Given the description of an element on the screen output the (x, y) to click on. 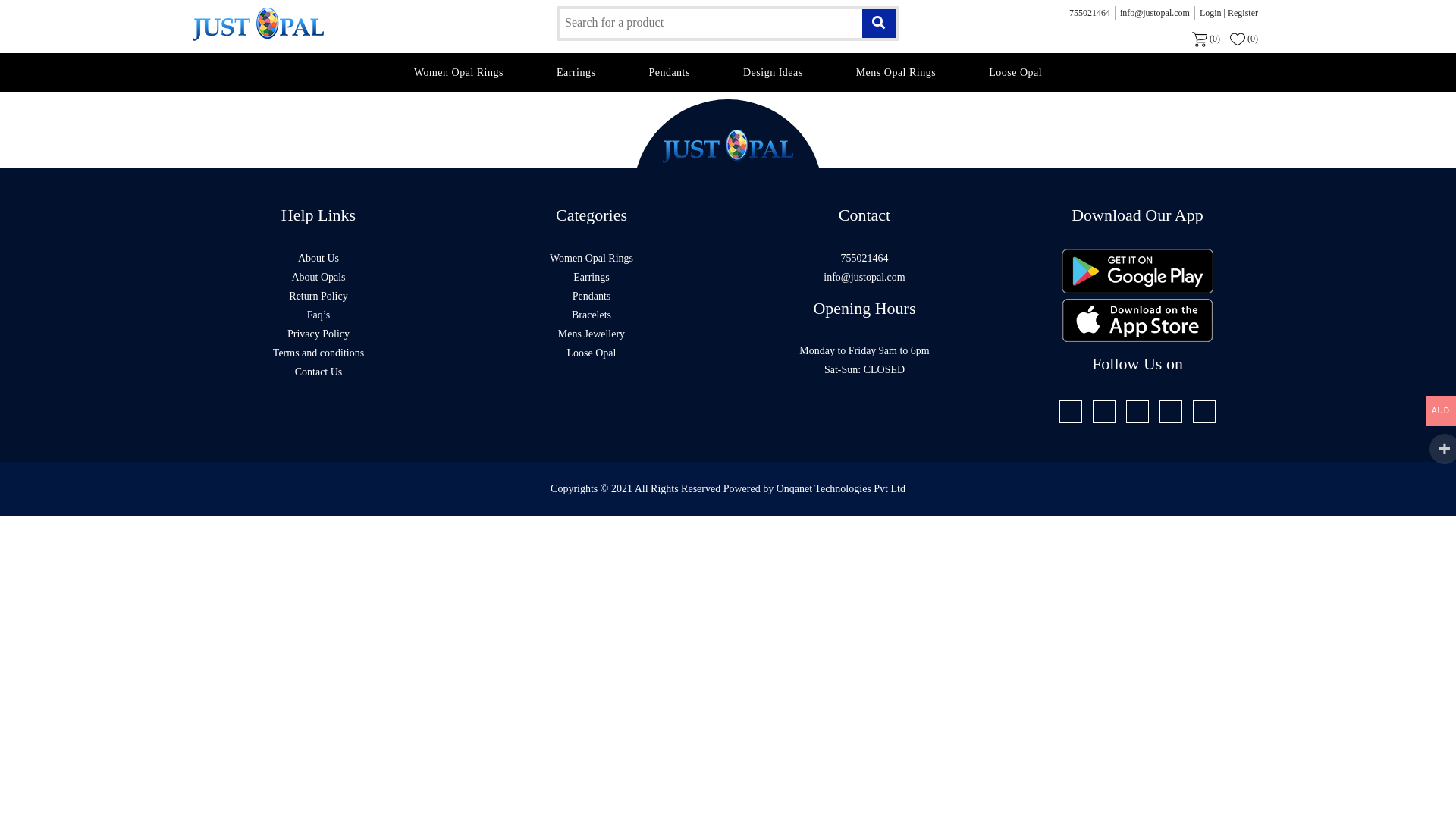
Pendants Element type: text (668, 72)
Monday to Friday 9am to 6pm Element type: text (864, 350)
755021464 Element type: text (1089, 12)
Pendants Element type: text (591, 295)
Return Policy Element type: text (317, 295)
About Opals Element type: text (318, 276)
info@justopal.com Element type: text (863, 276)
Bracelets Element type: text (591, 314)
Women Opal Rings Element type: text (591, 257)
info@justopal.com Element type: text (1155, 12)
Loose Opal Element type: text (1015, 72)
Design Ideas Element type: text (772, 72)
755021464 Element type: text (864, 257)
Earrings Element type: text (575, 72)
Mens Jewellery Element type: text (591, 333)
Mens Opal Rings Element type: text (896, 72)
Loose Opal Element type: text (591, 352)
Privacy Policy Element type: text (318, 333)
Women Opal Rings Element type: text (458, 72)
Login | Register Element type: text (1228, 12)
Terms and conditions Element type: text (318, 352)
Earrings Element type: text (590, 276)
(0) Element type: text (1206, 39)
(0) Element type: text (1243, 39)
Contact Us Element type: text (318, 371)
Sat-Sun: CLOSED Element type: text (864, 369)
About Us Element type: text (318, 257)
Onqanet Technologies Pvt Ltd Element type: text (840, 488)
